Given the description of an element on the screen output the (x, y) to click on. 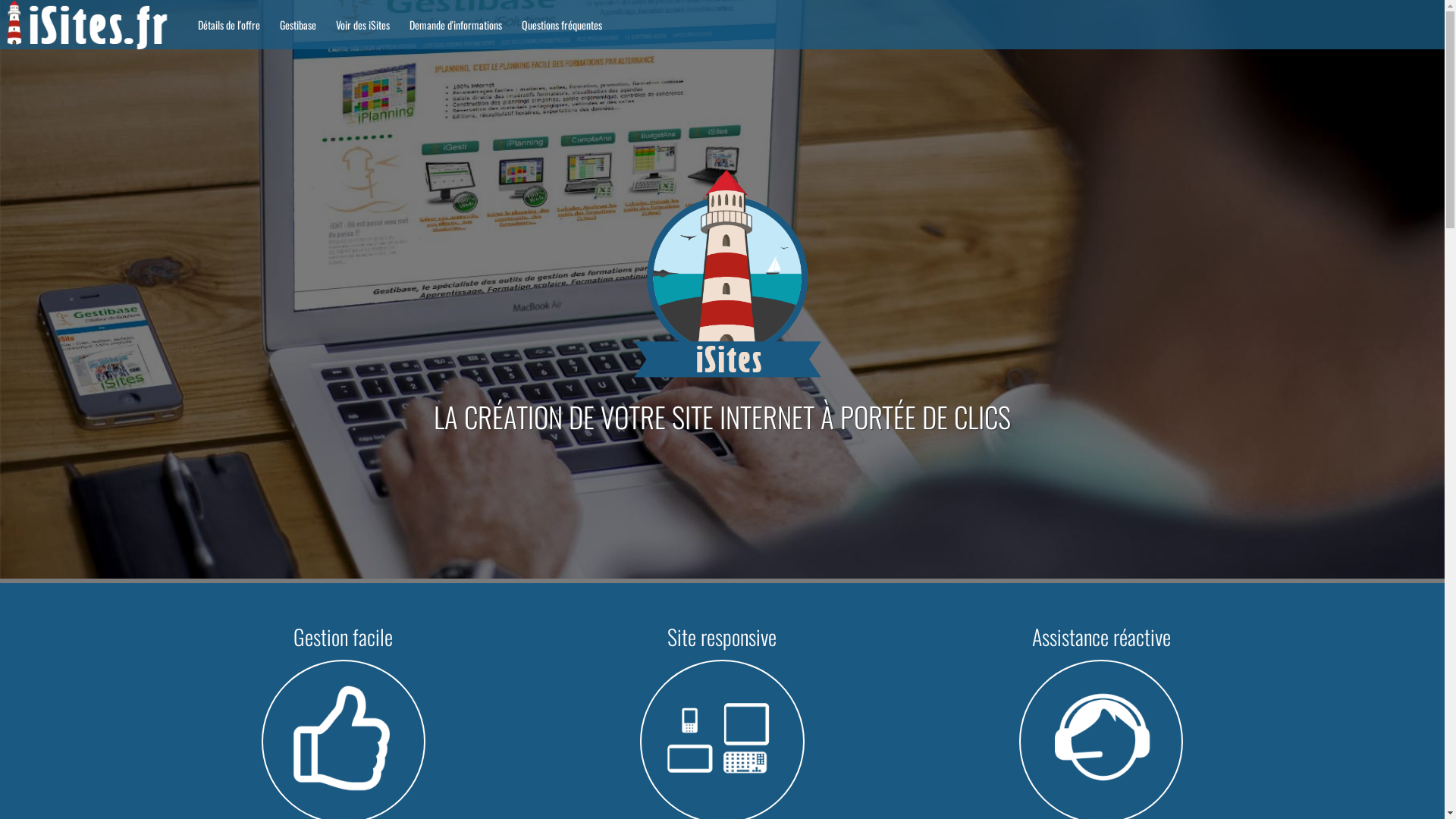
Gestibase Element type: text (297, 24)
Voir des iSites Element type: text (362, 24)
Demande d'informations Element type: text (455, 24)
